Given the description of an element on the screen output the (x, y) to click on. 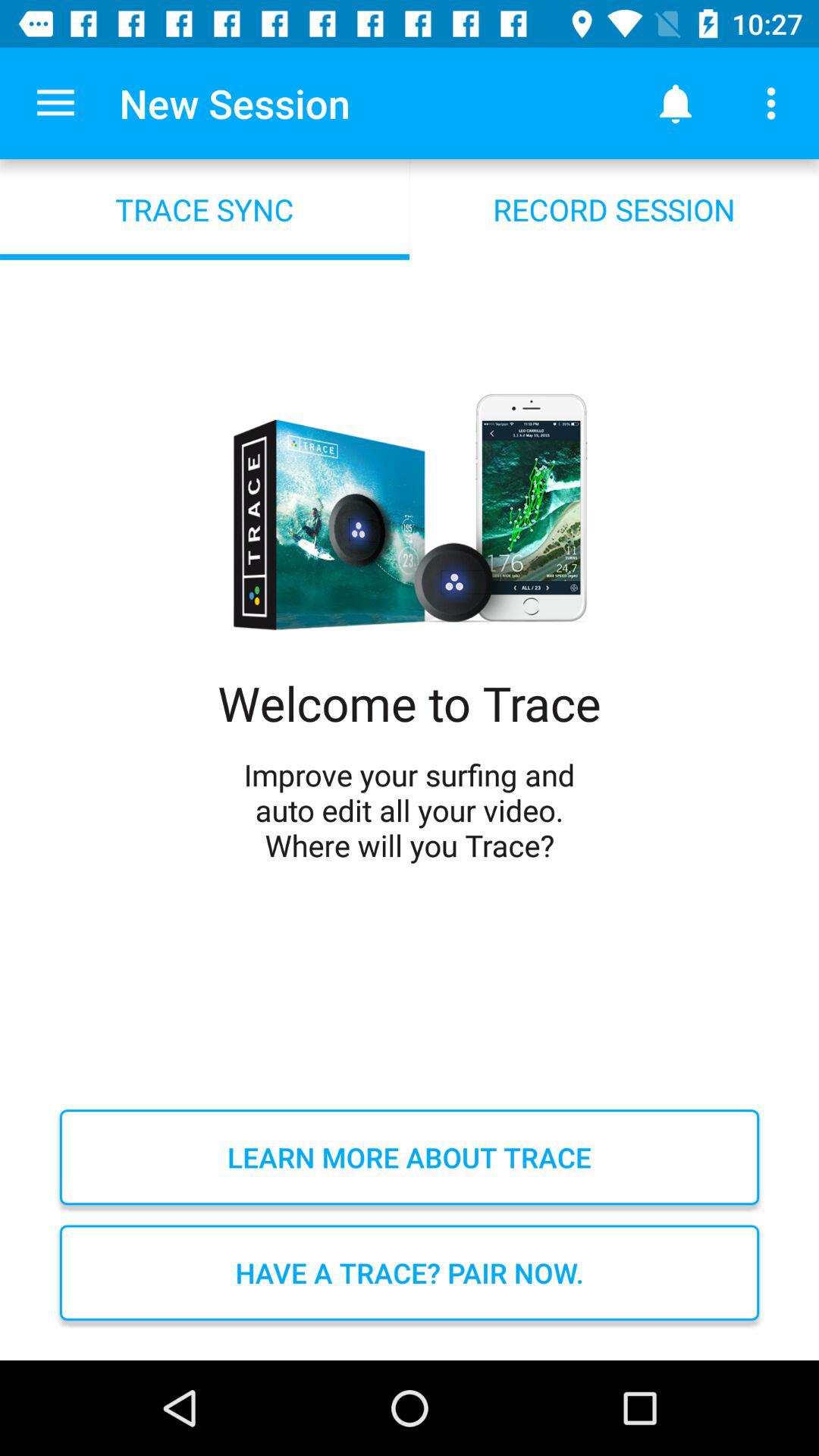
choose the icon above record session icon (675, 103)
